Given the description of an element on the screen output the (x, y) to click on. 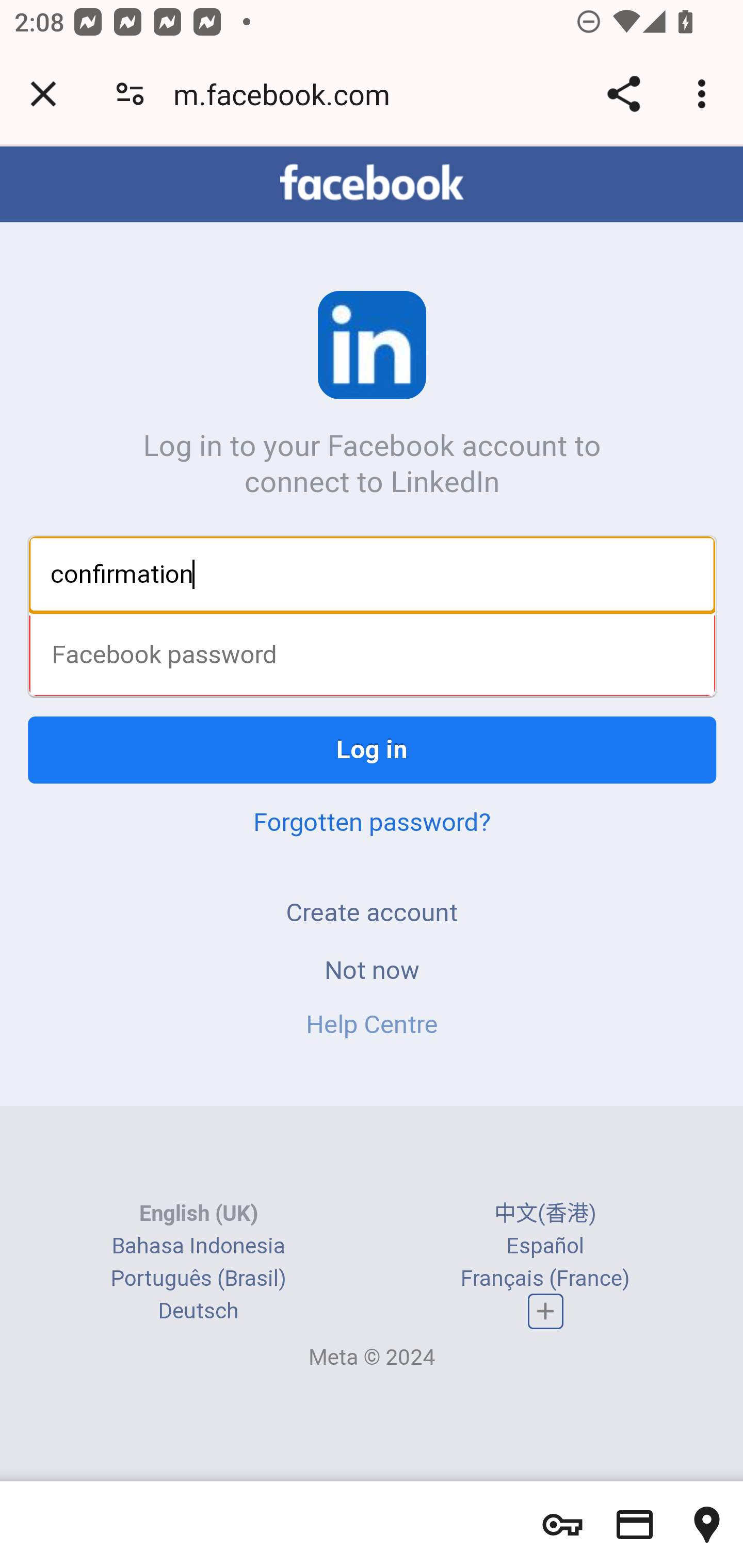
Close tab (43, 93)
Share (623, 93)
Customize and control Google Chrome (705, 93)
Connection is secure (129, 93)
m.facebook.com (288, 93)
facebook (371, 183)
confirmation (372, 575)
Log in (372, 751)
Forgotten password? (371, 823)
Create account (371, 913)
Not now (371, 971)
Help Centre (371, 1026)
中文(香港) (544, 1213)
Bahasa Indonesia (198, 1246)
Español (545, 1246)
Português (Brasil) (197, 1278)
Français (France) (544, 1278)
Complete list of languages (545, 1312)
Deutsch (197, 1311)
Show saved passwords and password options (562, 1524)
Show saved payment methods (634, 1524)
Show saved addresses (706, 1524)
